Given the description of an element on the screen output the (x, y) to click on. 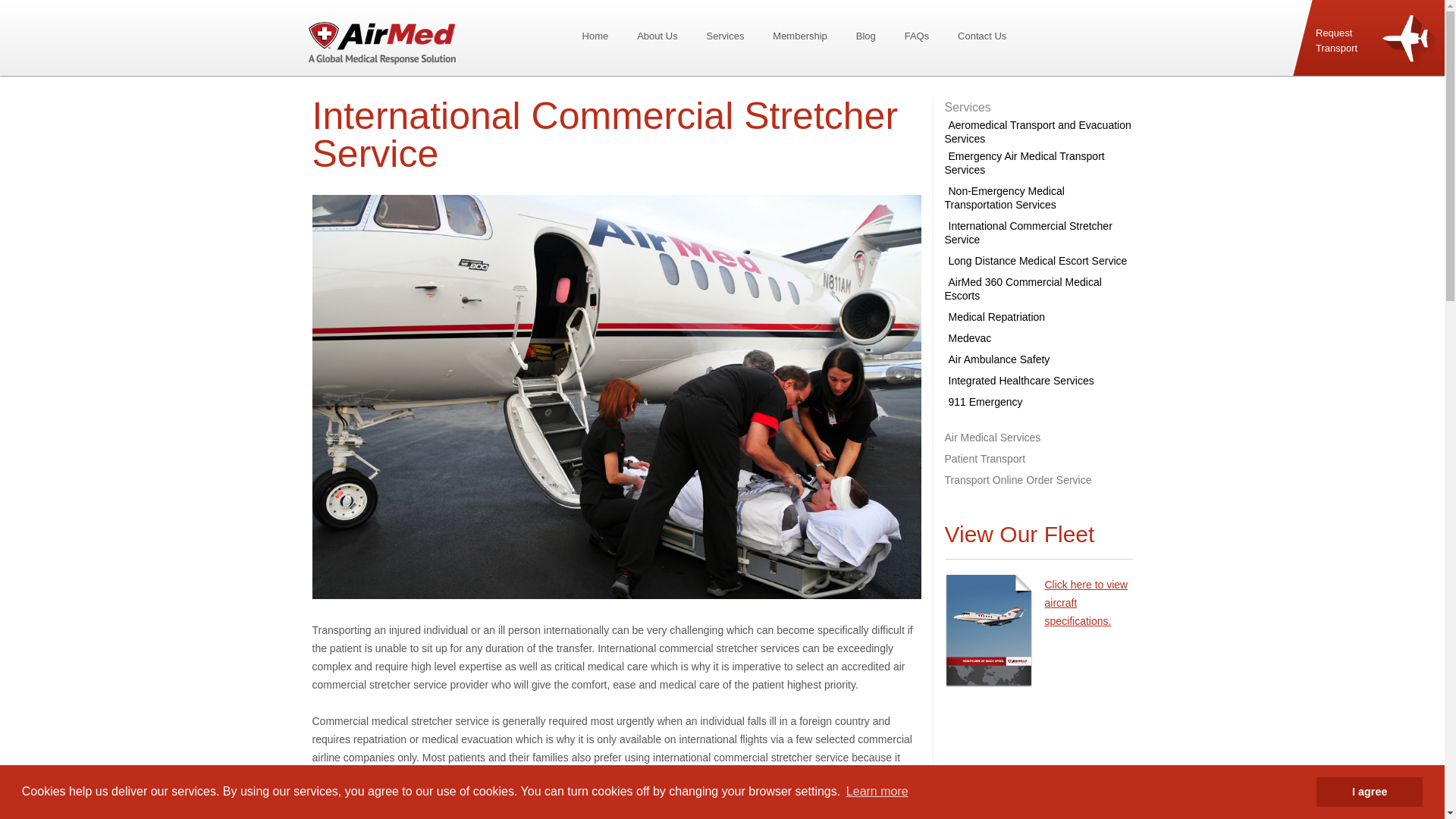
Home (595, 36)
Learn more (877, 791)
I agree (1369, 791)
Services (725, 36)
About Us (656, 36)
